Given the description of an element on the screen output the (x, y) to click on. 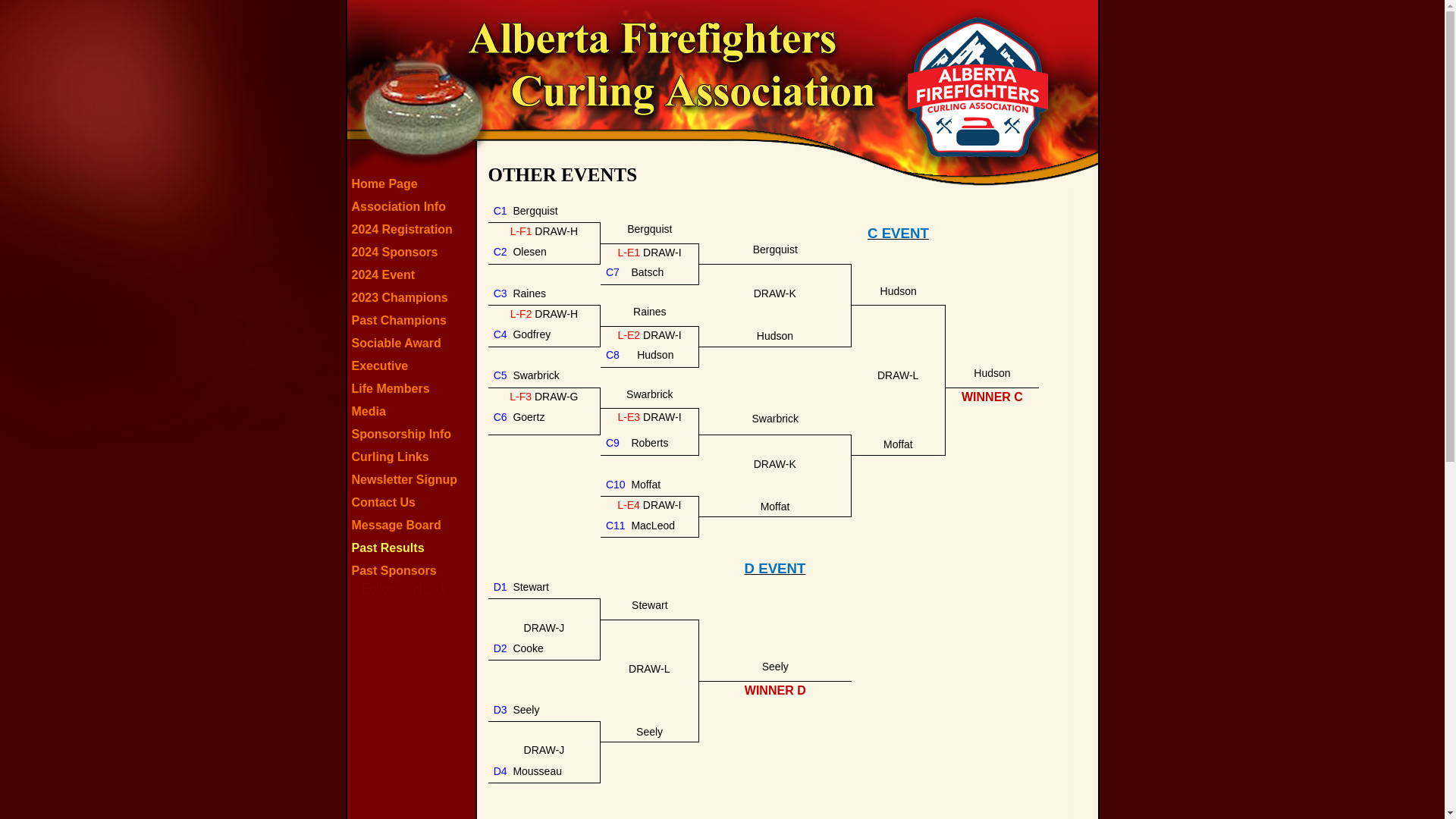
Message Board Element type: text (411, 524)
Past Sponsors Element type: text (411, 569)
Curling Links Element type: text (411, 456)
2024 Event Element type: text (411, 274)
Past Results Element type: text (411, 547)
2024 Sponsors Element type: text (411, 251)
Sociable Award Element type: text (411, 342)
Past Champions Element type: text (411, 319)
Executive Element type: text (411, 365)
Contact Us Element type: text (411, 501)
2024 Registration Element type: text (411, 228)
Follow @affca1 Element type: text (403, 587)
Newsletter Signup Element type: text (411, 478)
Life Members Element type: text (411, 387)
Association Info Element type: text (411, 205)
Sponsorship Info Element type: text (411, 433)
Media Element type: text (411, 410)
Home Page Element type: text (411, 183)
2023 Champions Element type: text (411, 296)
